Given the description of an element on the screen output the (x, y) to click on. 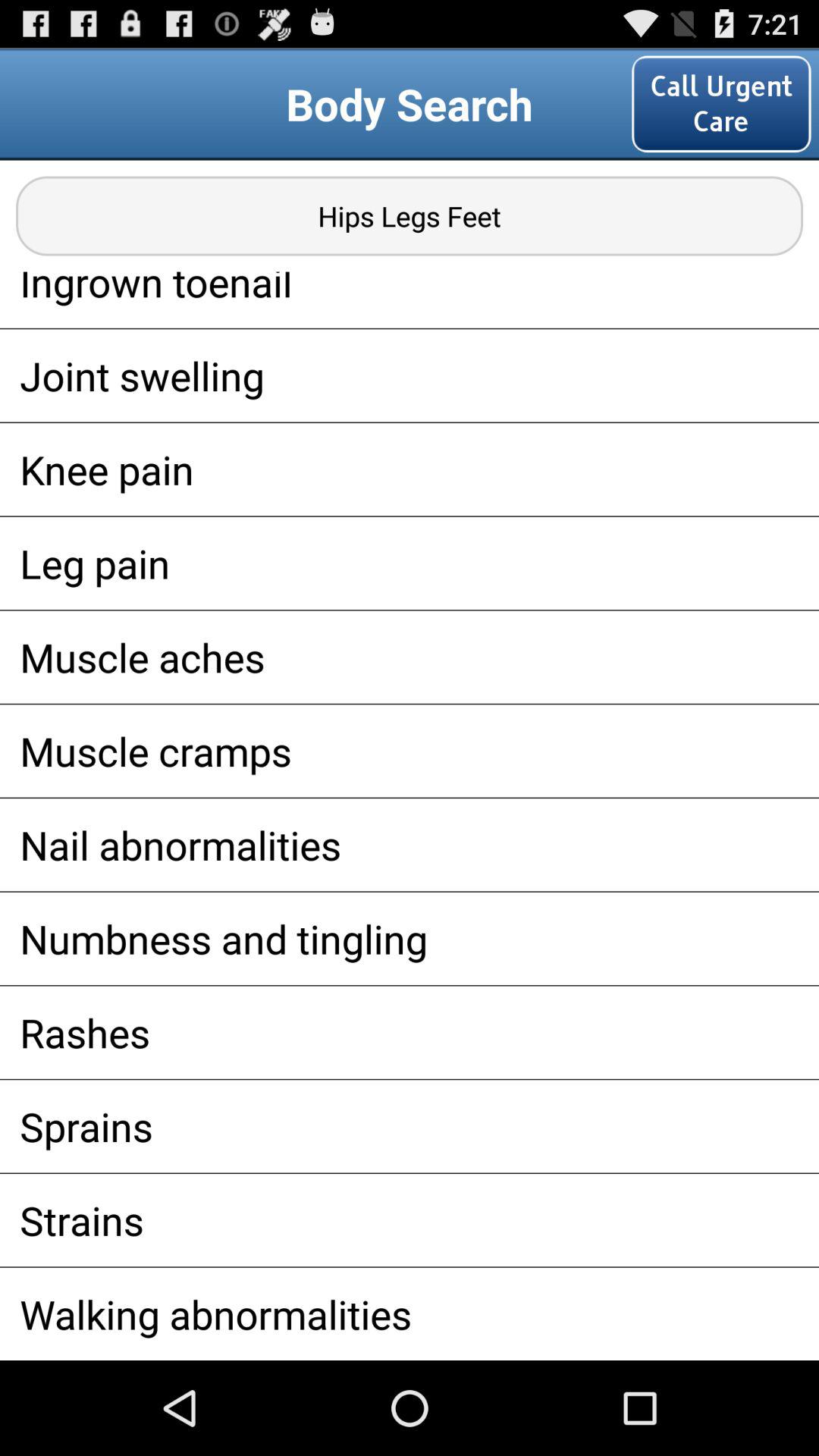
scroll until numbness and tingling icon (409, 938)
